Given the description of an element on the screen output the (x, y) to click on. 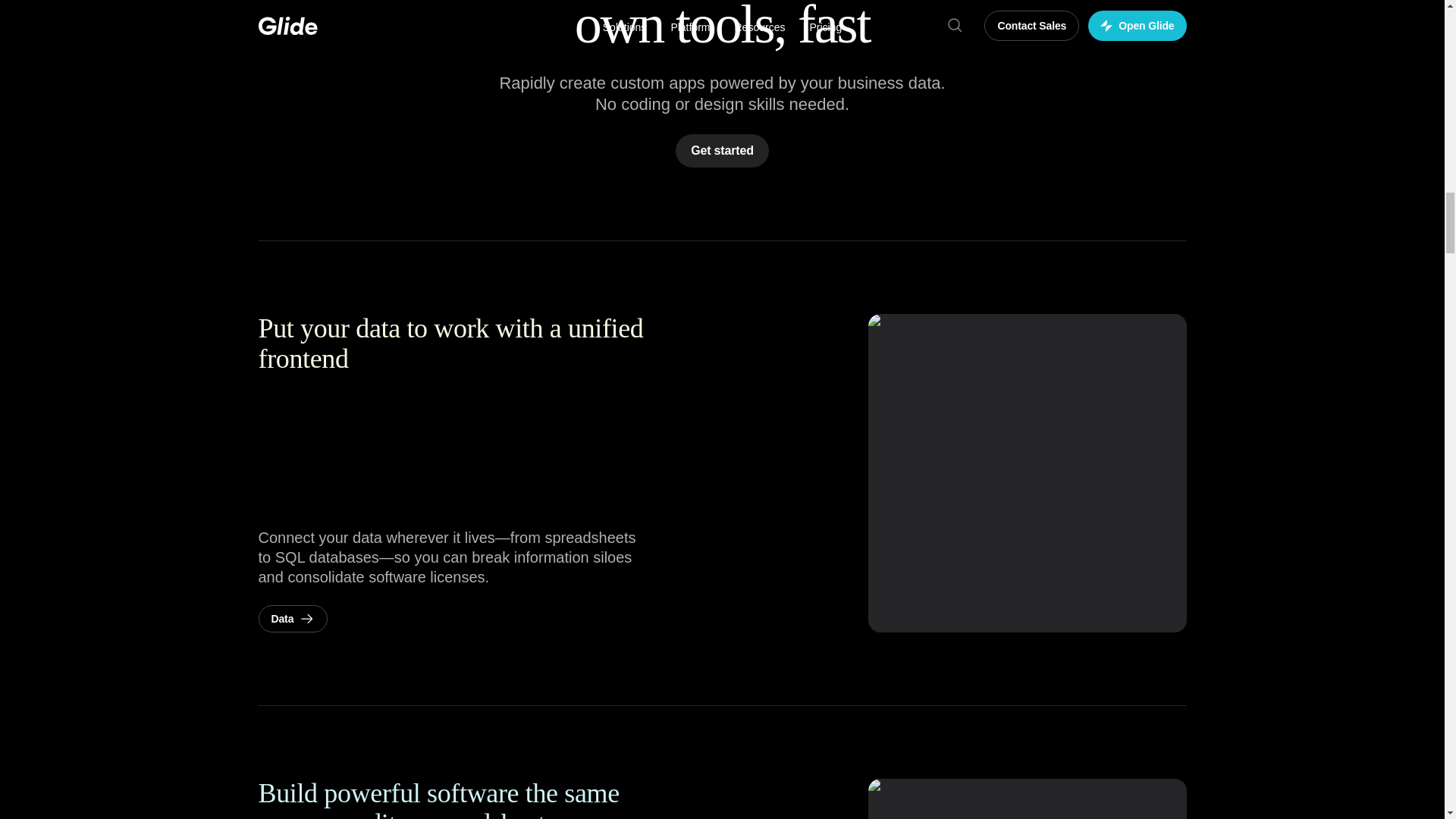
Get started (721, 150)
Data (292, 618)
